Given the description of an element on the screen output the (x, y) to click on. 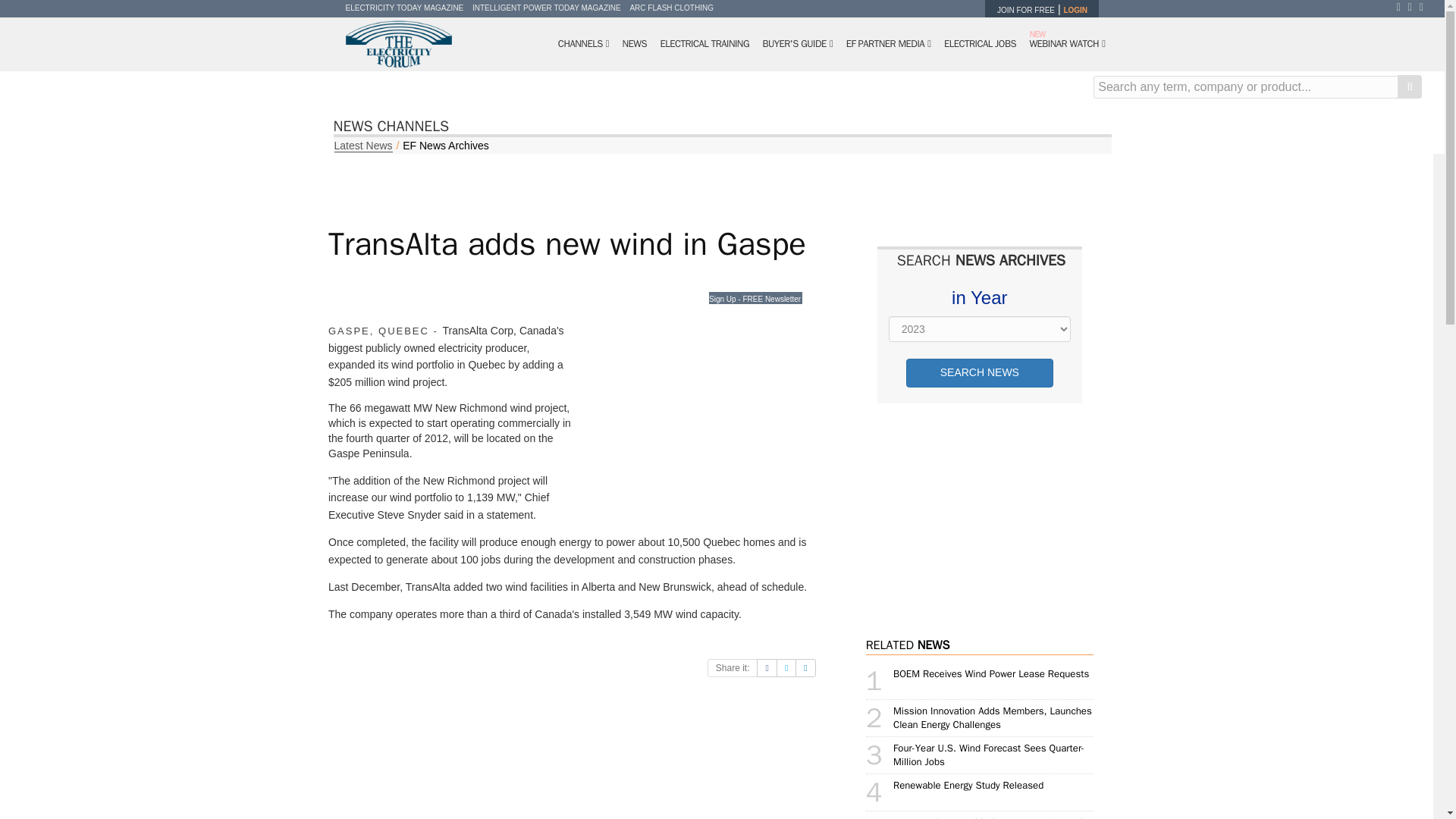
INTELLIGENT POWER TODAY MAGAZINE (546, 8)
ELECTRICITY TODAY MAGAZINE (405, 8)
Facebook (1401, 6)
Advertisement (694, 424)
WEBINAR WATCH (1066, 44)
Share it: (732, 668)
LinkedIn (1425, 6)
Twitter (1413, 6)
Sign Up - FREE Newsletter (755, 297)
SEARCH NEWS (978, 372)
